Given the description of an element on the screen output the (x, y) to click on. 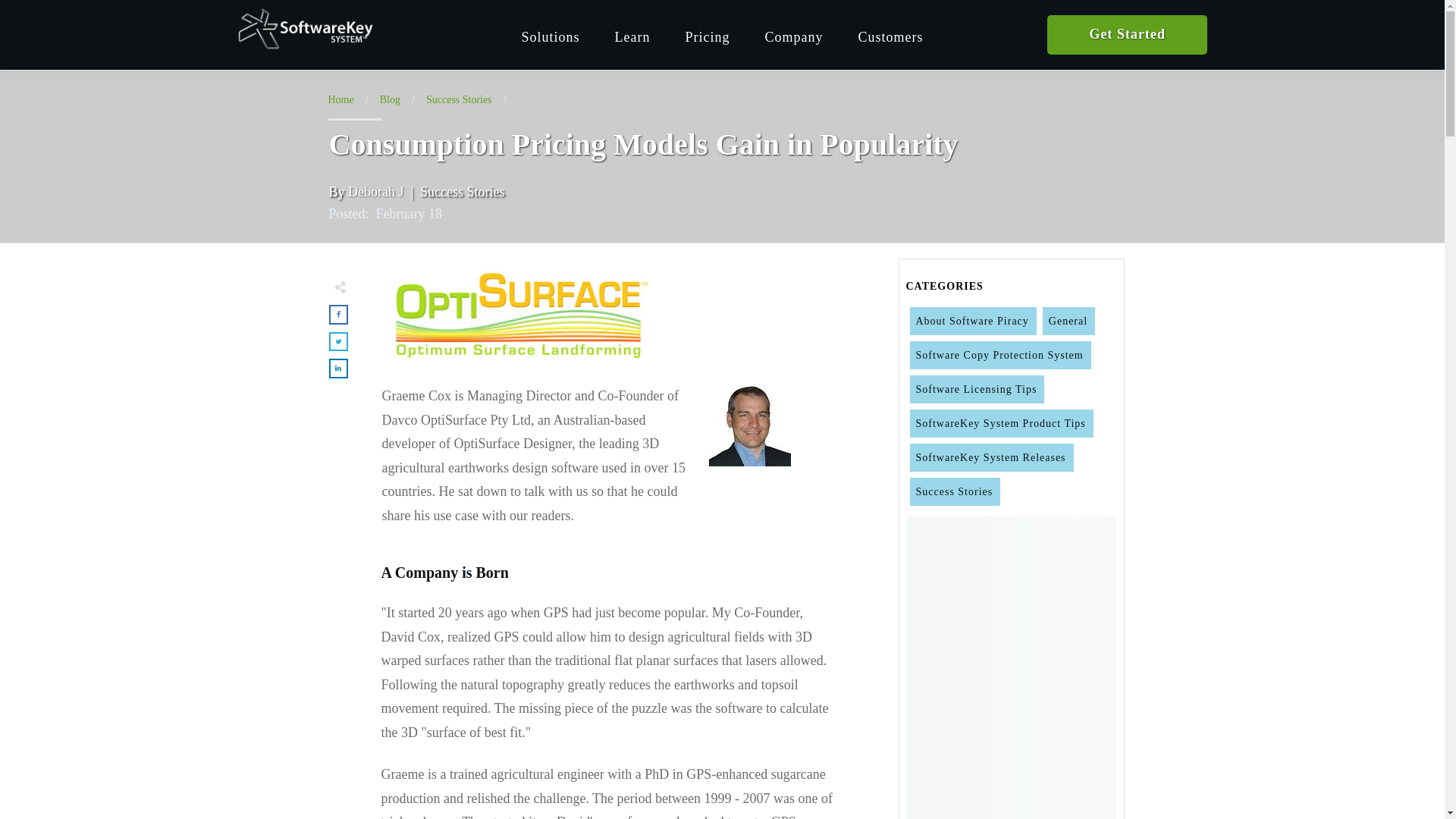
Company (793, 36)
Learn (632, 36)
Get Started (1127, 34)
Pricing (706, 36)
Success Stories (459, 99)
Customers (890, 36)
Home (340, 99)
Solutions (550, 36)
Consumption Pricing Models Gain in Popularity (516, 313)
Blog (390, 99)
